Given the description of an element on the screen output the (x, y) to click on. 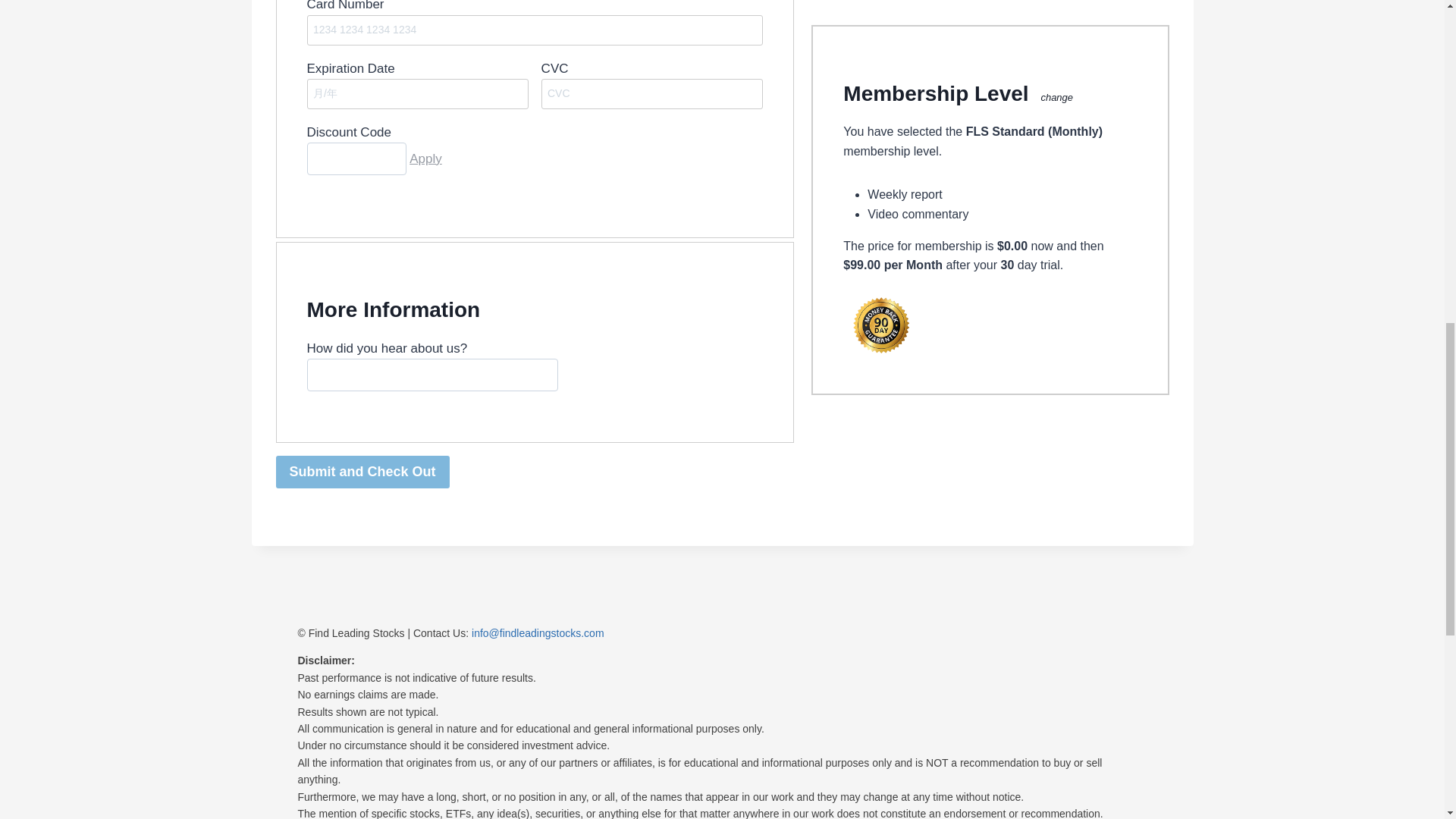
Apply (425, 158)
Submit and Check Out (362, 471)
Submit and Check Out (362, 471)
